Given the description of an element on the screen output the (x, y) to click on. 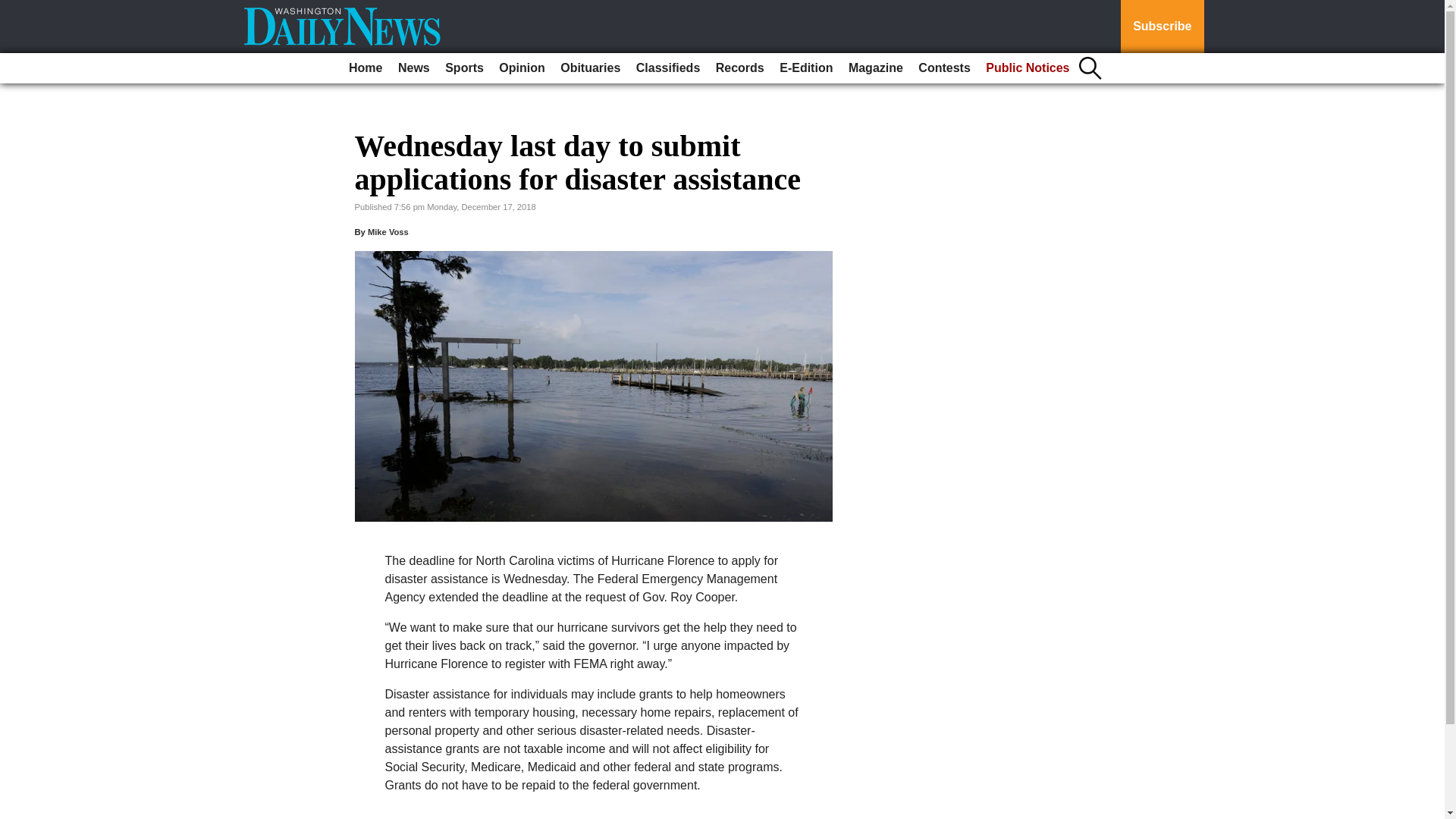
Public Notices (1027, 68)
Contests (943, 68)
E-Edition (805, 68)
Home (365, 68)
Opinion (521, 68)
Subscribe (1162, 26)
Magazine (875, 68)
Classifieds (668, 68)
News (413, 68)
Mike Voss (388, 231)
